Given the description of an element on the screen output the (x, y) to click on. 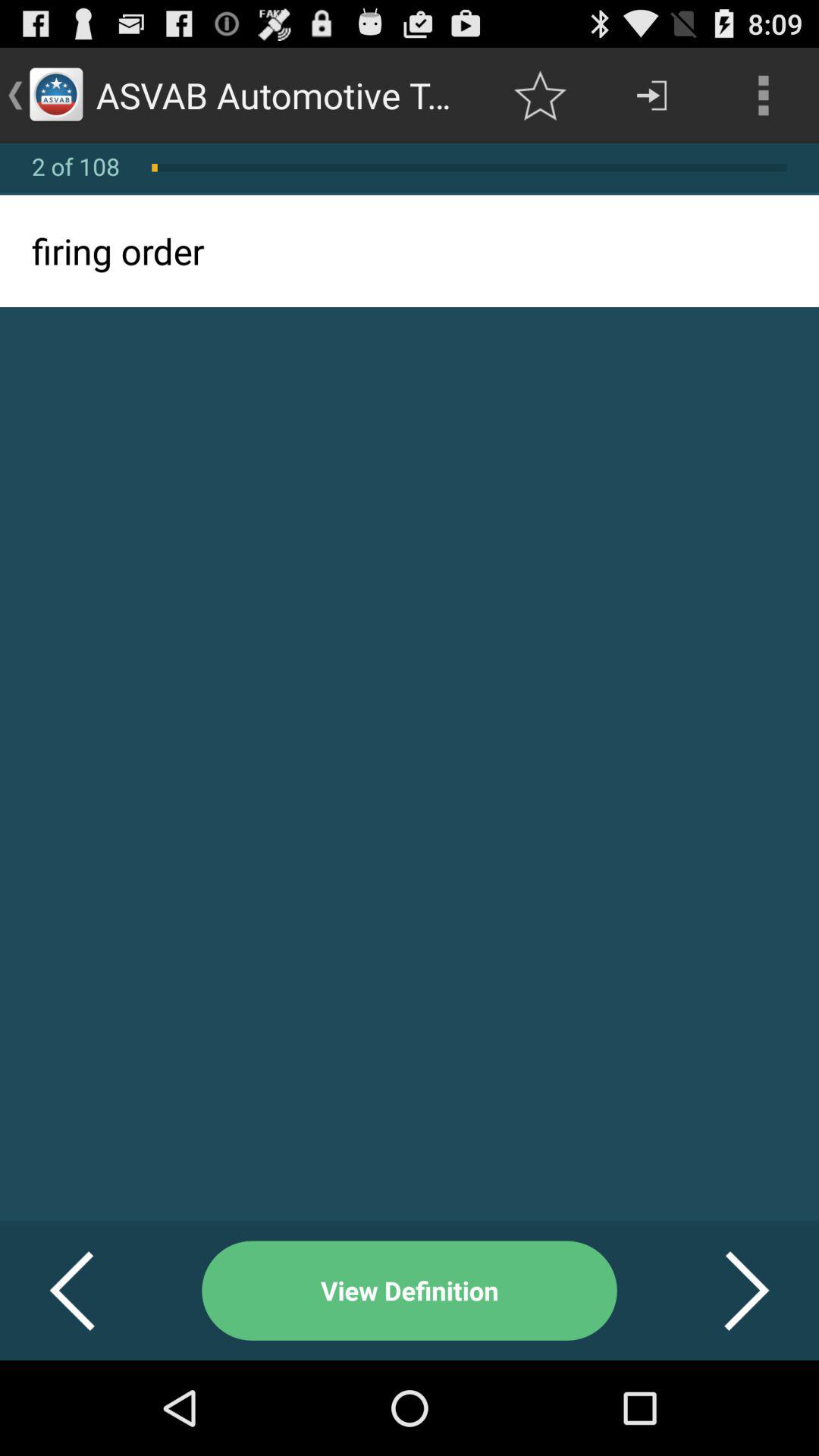
click app to the right of asvab automotive terminologies (540, 95)
